Given the description of an element on the screen output the (x, y) to click on. 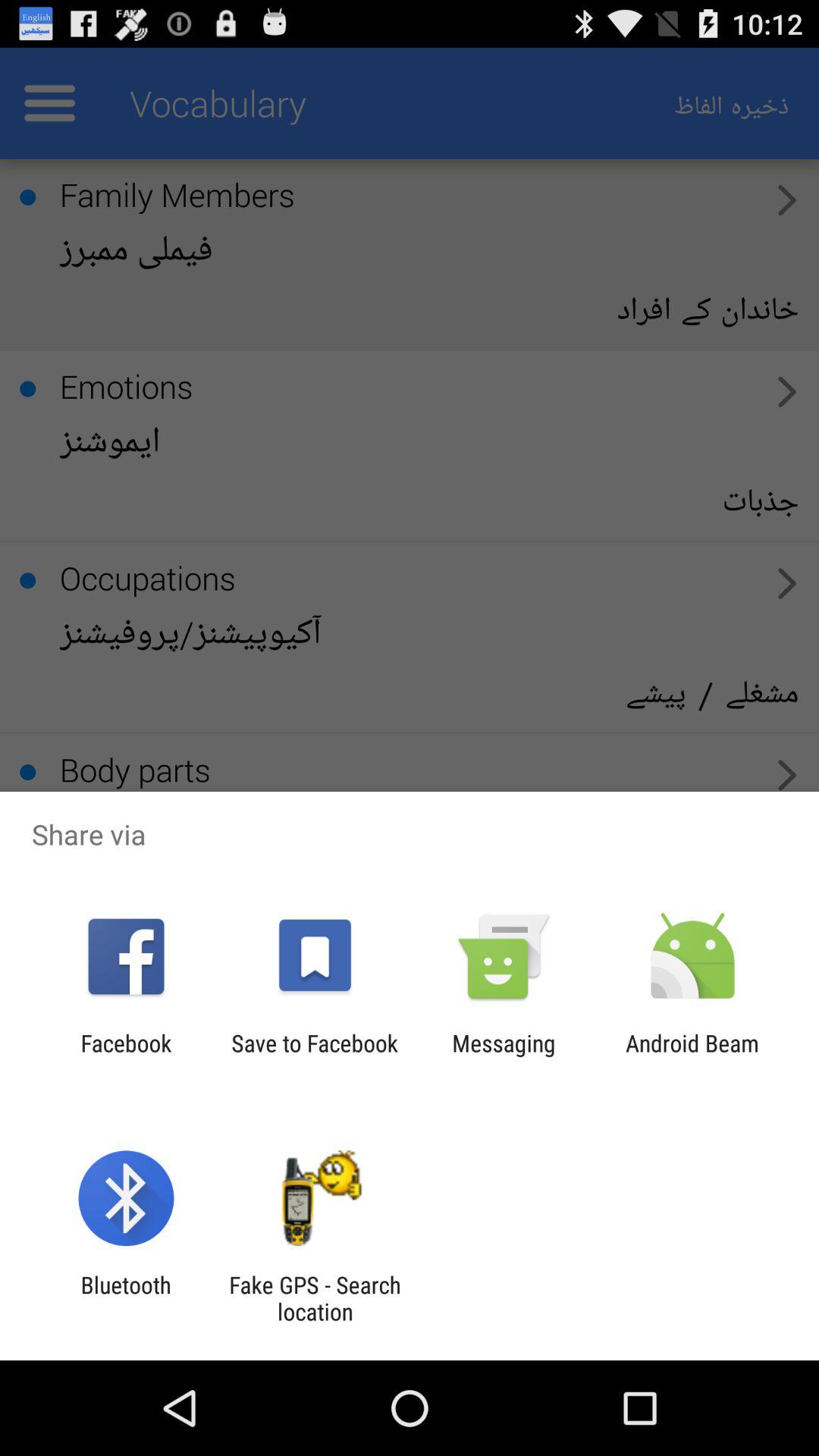
press the item next to the facebook item (314, 1056)
